Given the description of an element on the screen output the (x, y) to click on. 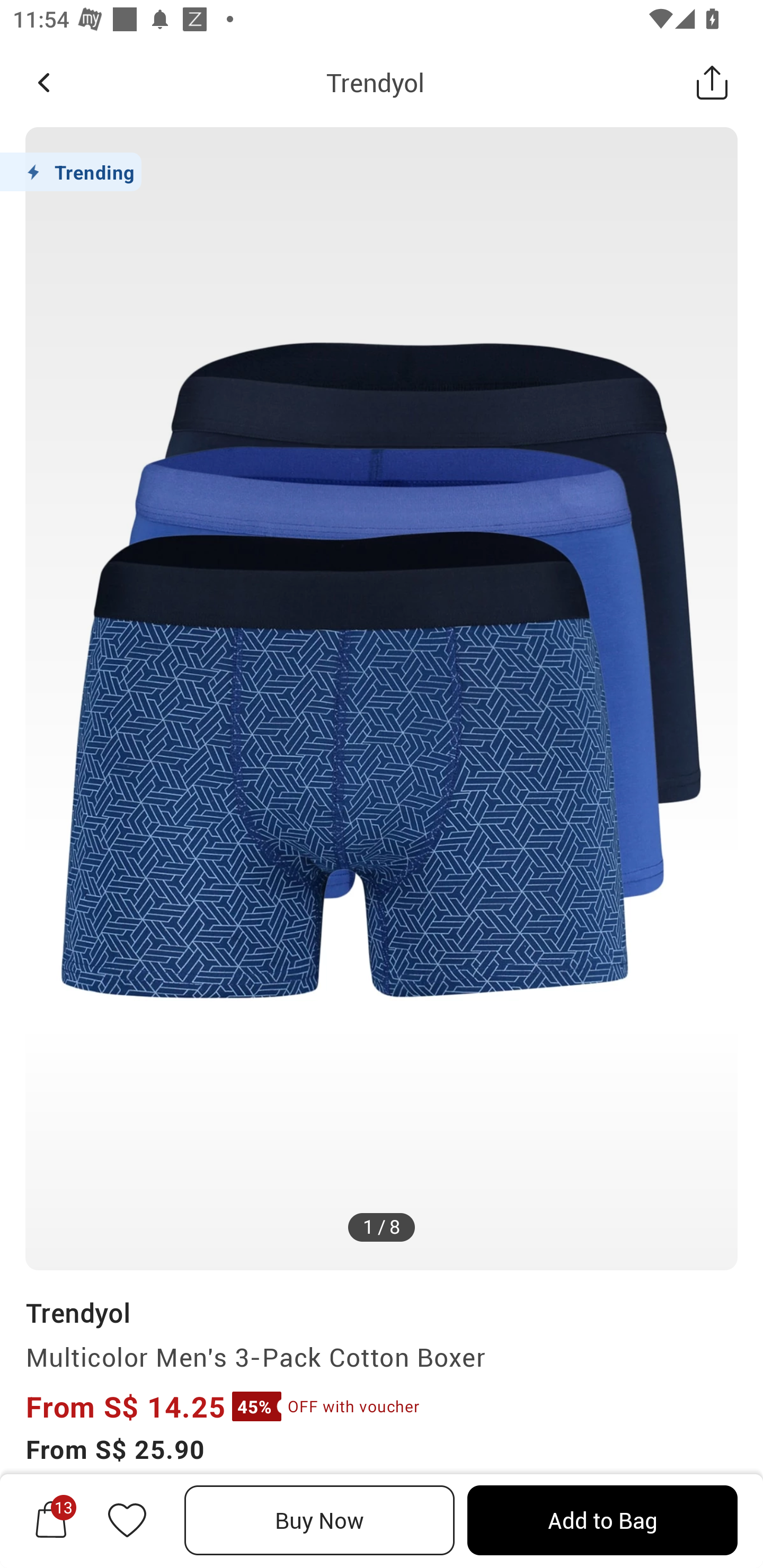
Trendyol (375, 82)
Share this Product (711, 82)
Trendyol (77, 1312)
Buy Now (319, 1519)
Add to Bag (601, 1519)
13 (50, 1520)
